Given the description of an element on the screen output the (x, y) to click on. 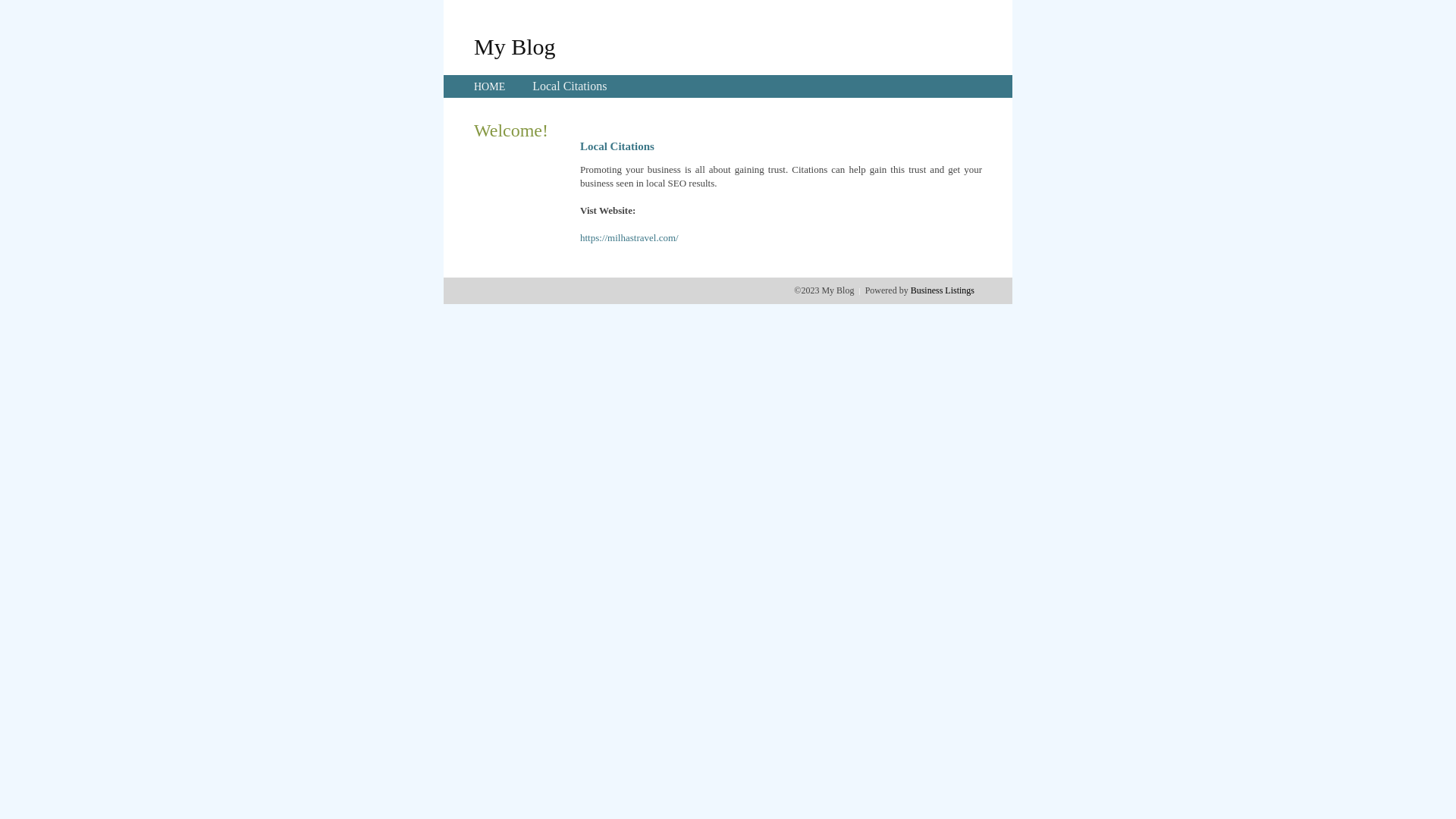
Business Listings Element type: text (942, 290)
https://milhastravel.com/ Element type: text (629, 237)
HOME Element type: text (489, 86)
Local Citations Element type: text (569, 85)
My Blog Element type: text (514, 46)
